Given the description of an element on the screen output the (x, y) to click on. 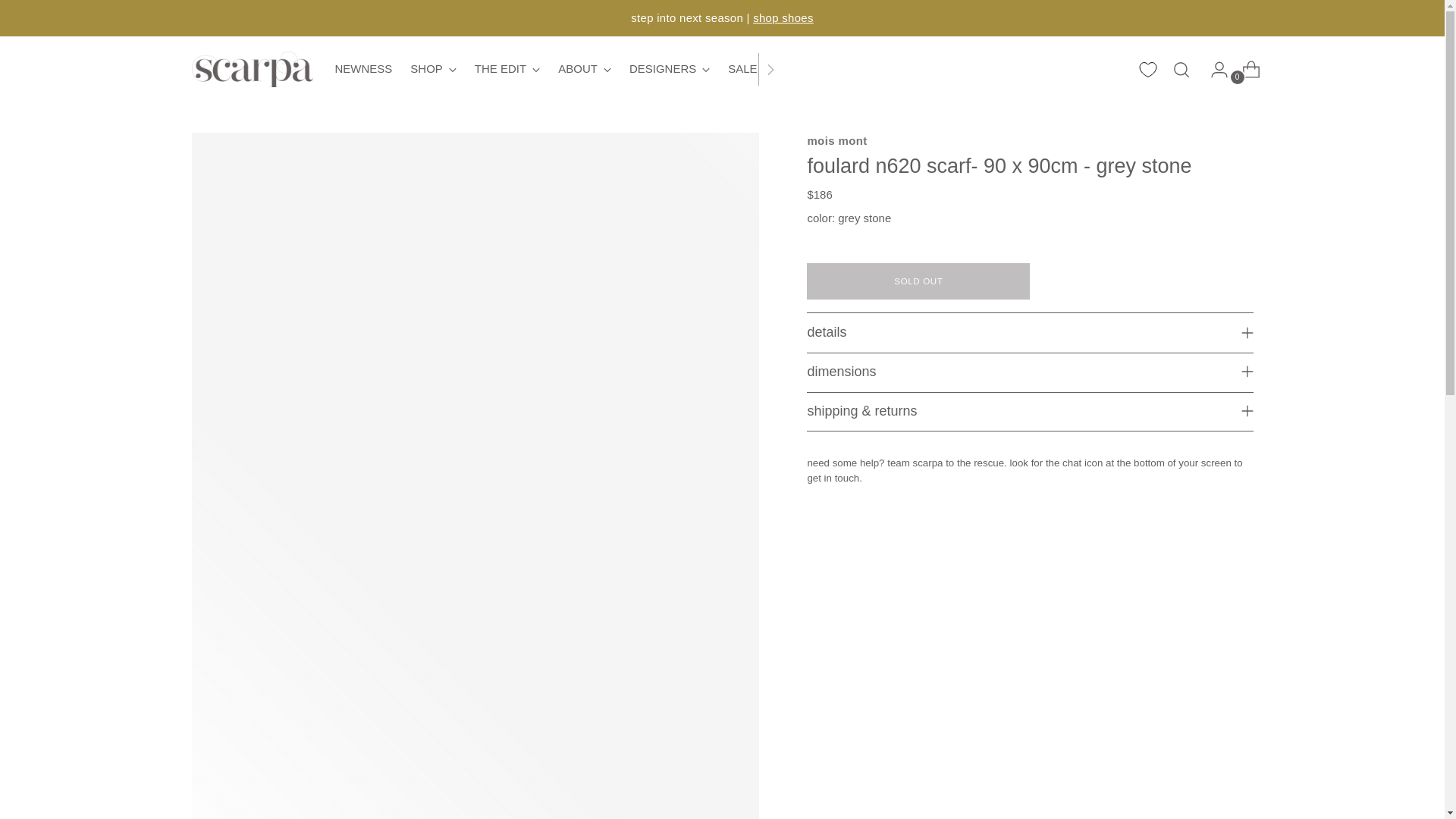
shop shoes (782, 17)
NEWNESS (556, 69)
shoes (363, 69)
SHOP (782, 17)
